Given the description of an element on the screen output the (x, y) to click on. 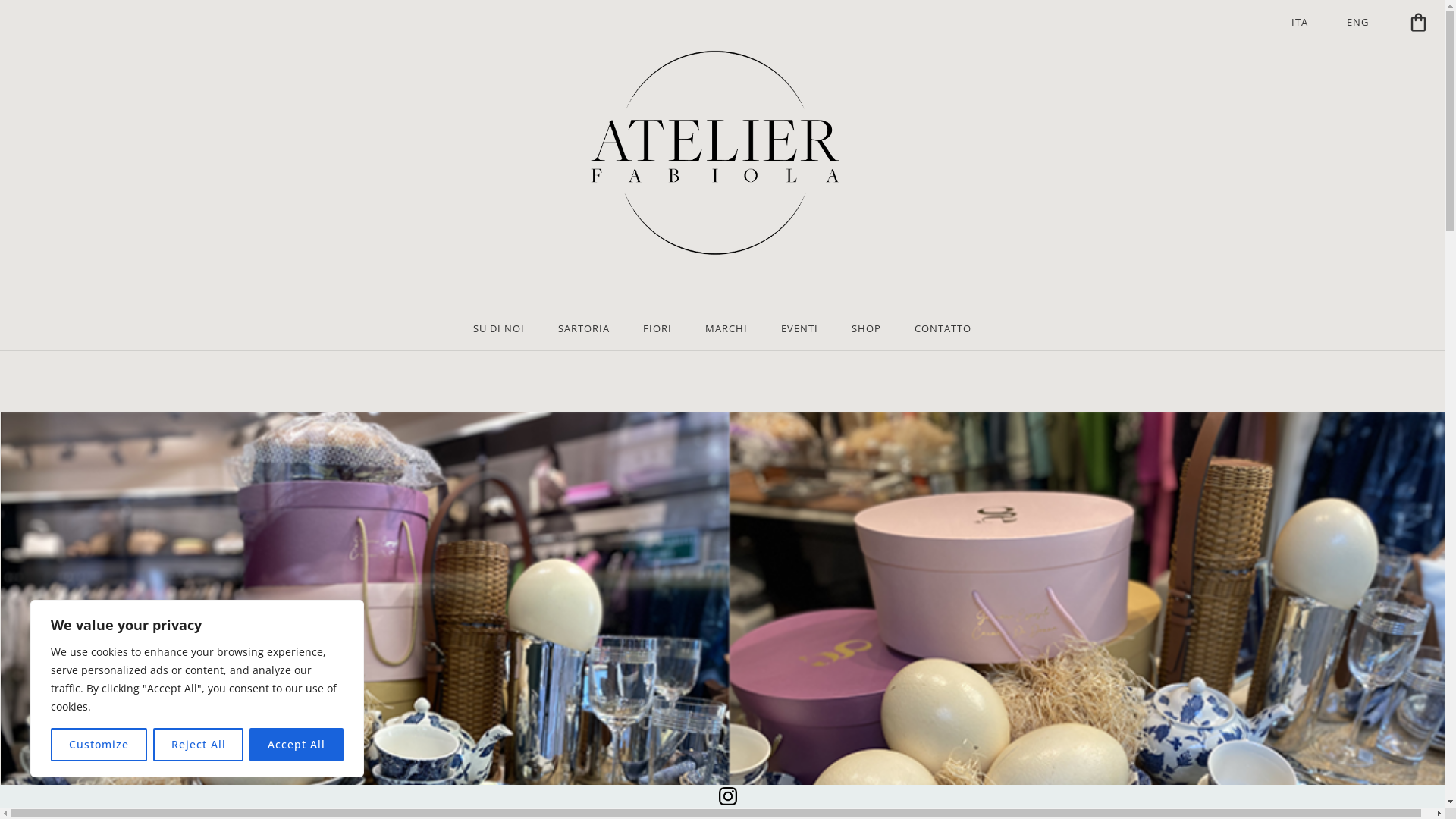
MARCHI Element type: text (726, 328)
ENG Element type: text (1357, 21)
Customize Element type: text (98, 744)
Accept All Element type: text (296, 744)
CONTATTO Element type: text (942, 328)
ITA Element type: text (1299, 21)
SARTORIA Element type: text (583, 328)
Reject All Element type: text (198, 744)
FIORI Element type: text (657, 328)
EVENTI Element type: text (799, 328)
SU DI NOI Element type: text (498, 328)
SHOP Element type: text (866, 328)
